Given the description of an element on the screen output the (x, y) to click on. 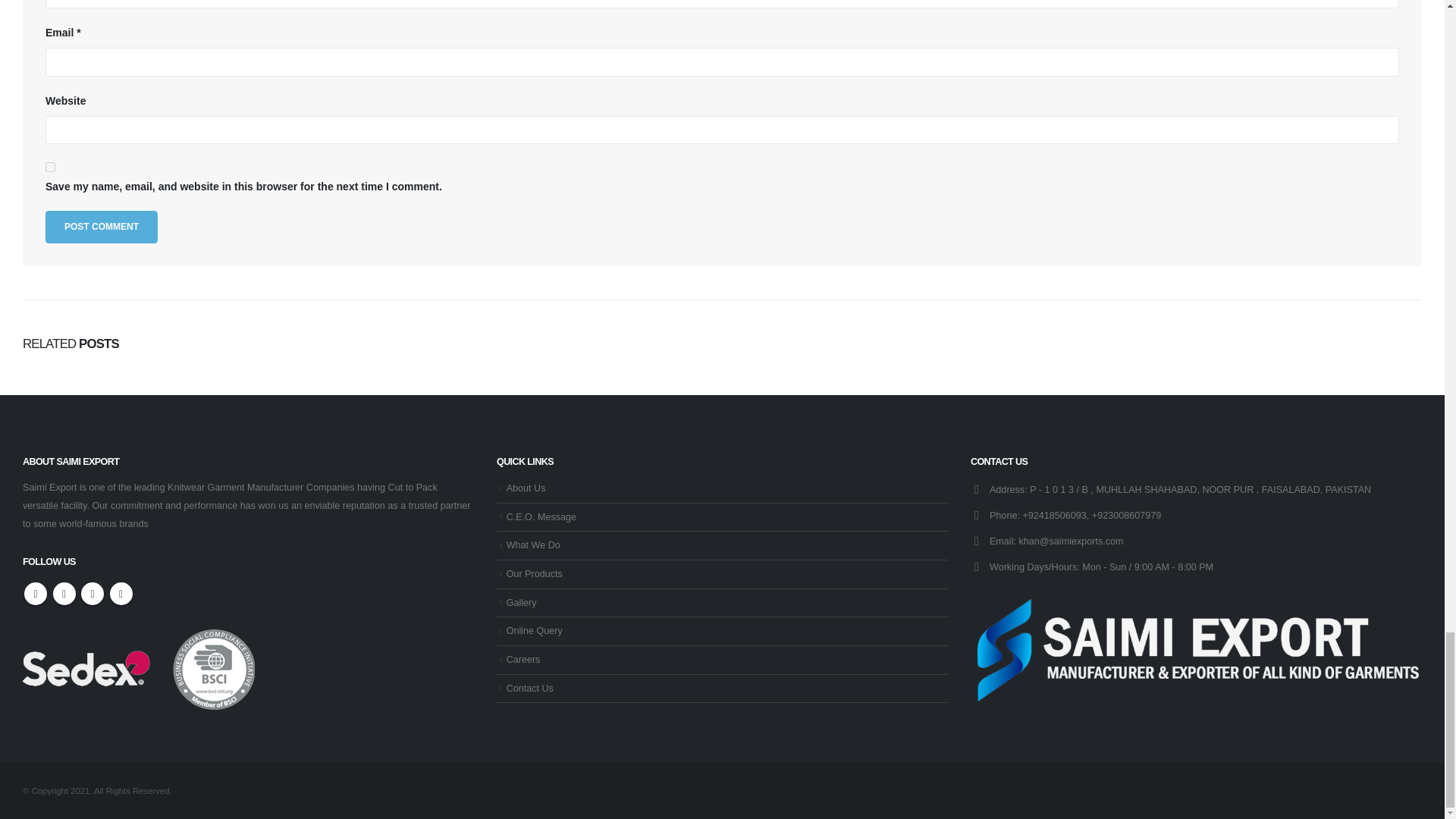
Post Comment (101, 226)
yes (50, 166)
Post Comment (101, 226)
Instagram (92, 593)
Twitter (63, 593)
Facebook (35, 593)
